Given the description of an element on the screen output the (x, y) to click on. 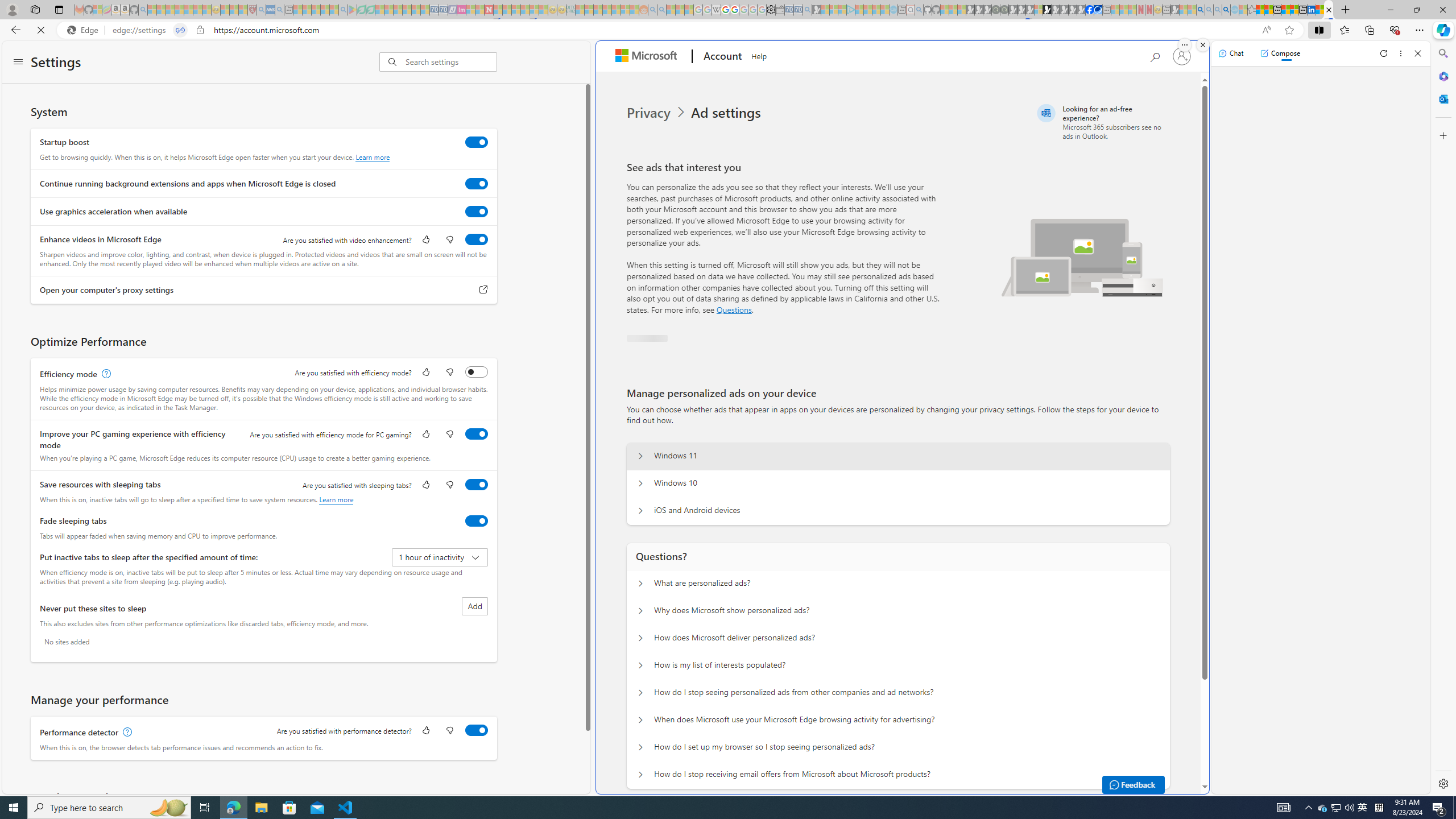
Google Chrome Internet Browser Download - Search Images (1225, 9)
Local - MSN - Sleeping (242, 9)
Sign in to your account (1181, 55)
Questions? How is my list of interests populated? (640, 665)
Tabs in split screen (180, 29)
Open your computer's proxy settings (483, 290)
14 Common Myths Debunked By Scientific Facts - Sleeping (506, 9)
